Given the description of an element on the screen output the (x, y) to click on. 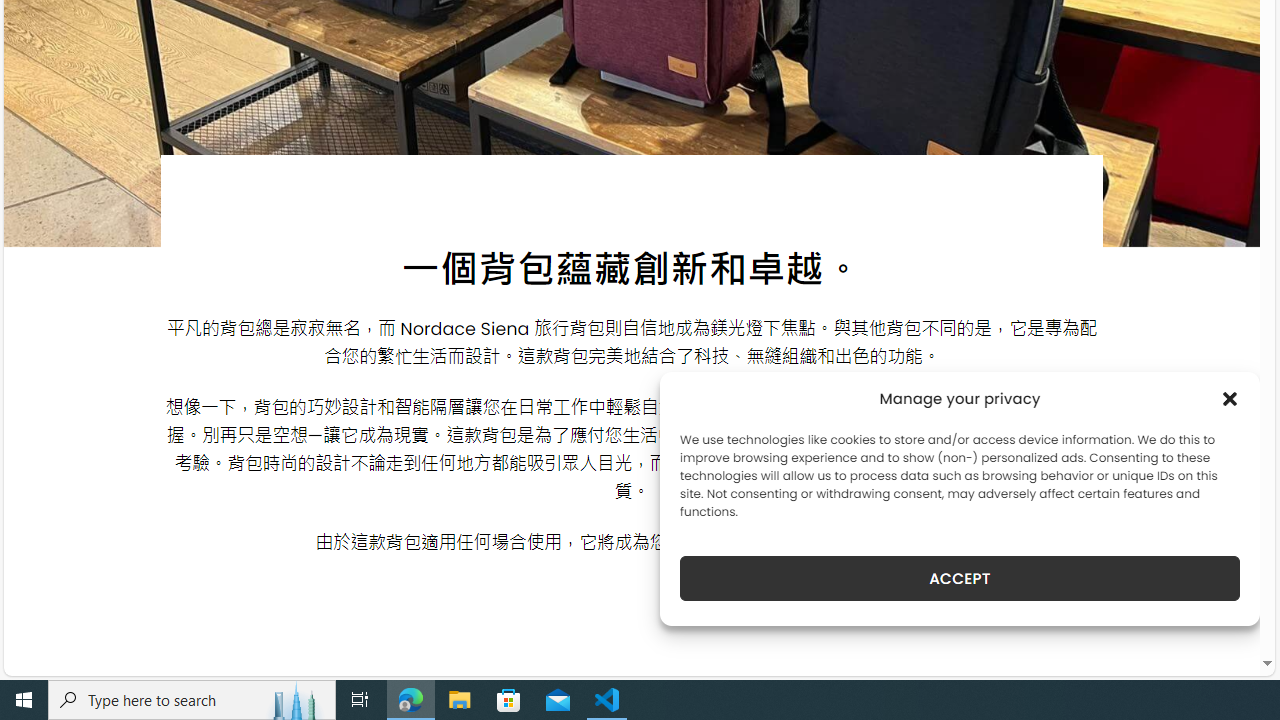
Class: cmplz-close (1229, 398)
ACCEPT (959, 578)
